Given the description of an element on the screen output the (x, y) to click on. 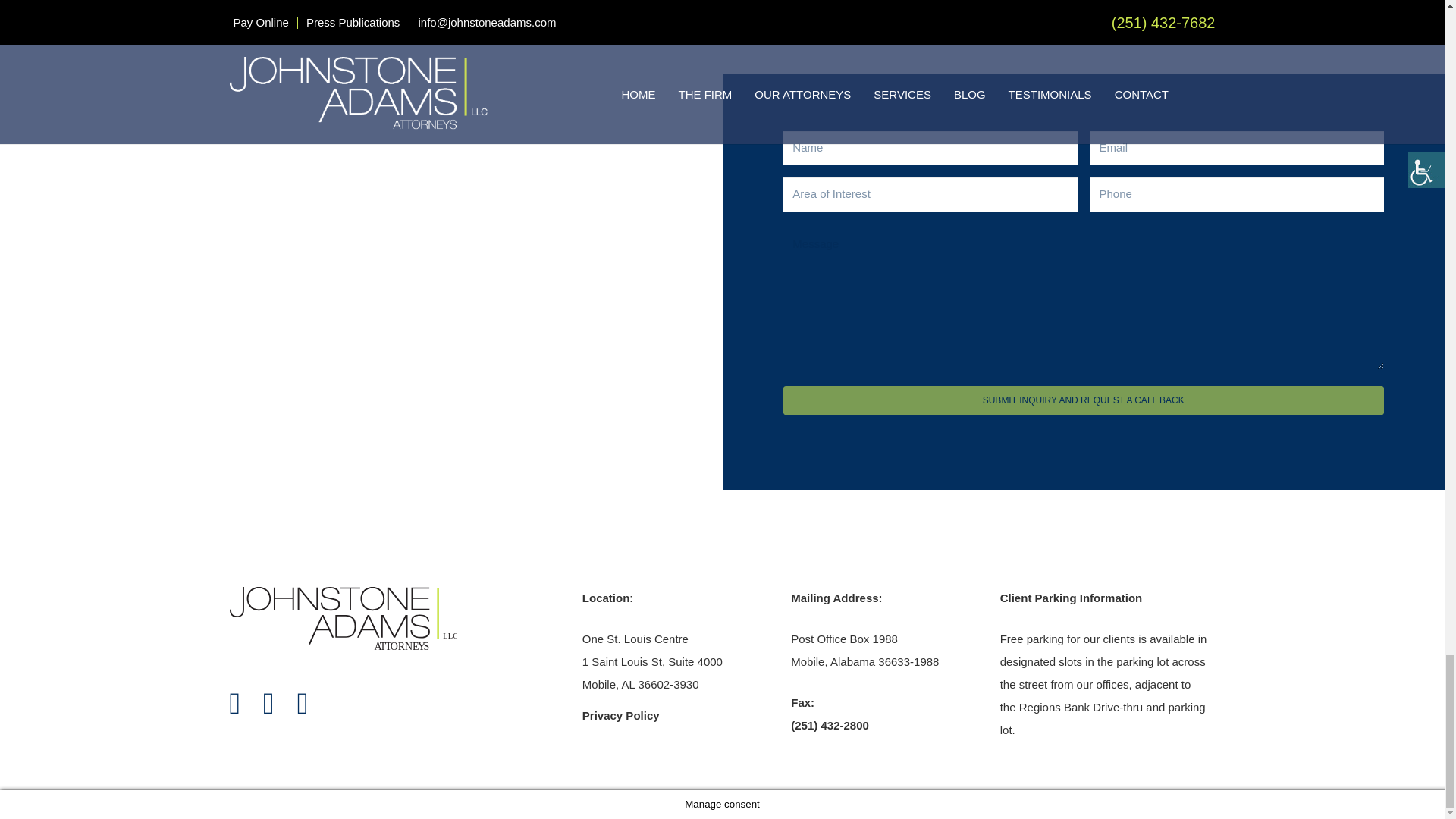
SUBMIT INQUIRY AND REQUEST A CALL BACK (342, 620)
